Given the description of an element on the screen output the (x, y) to click on. 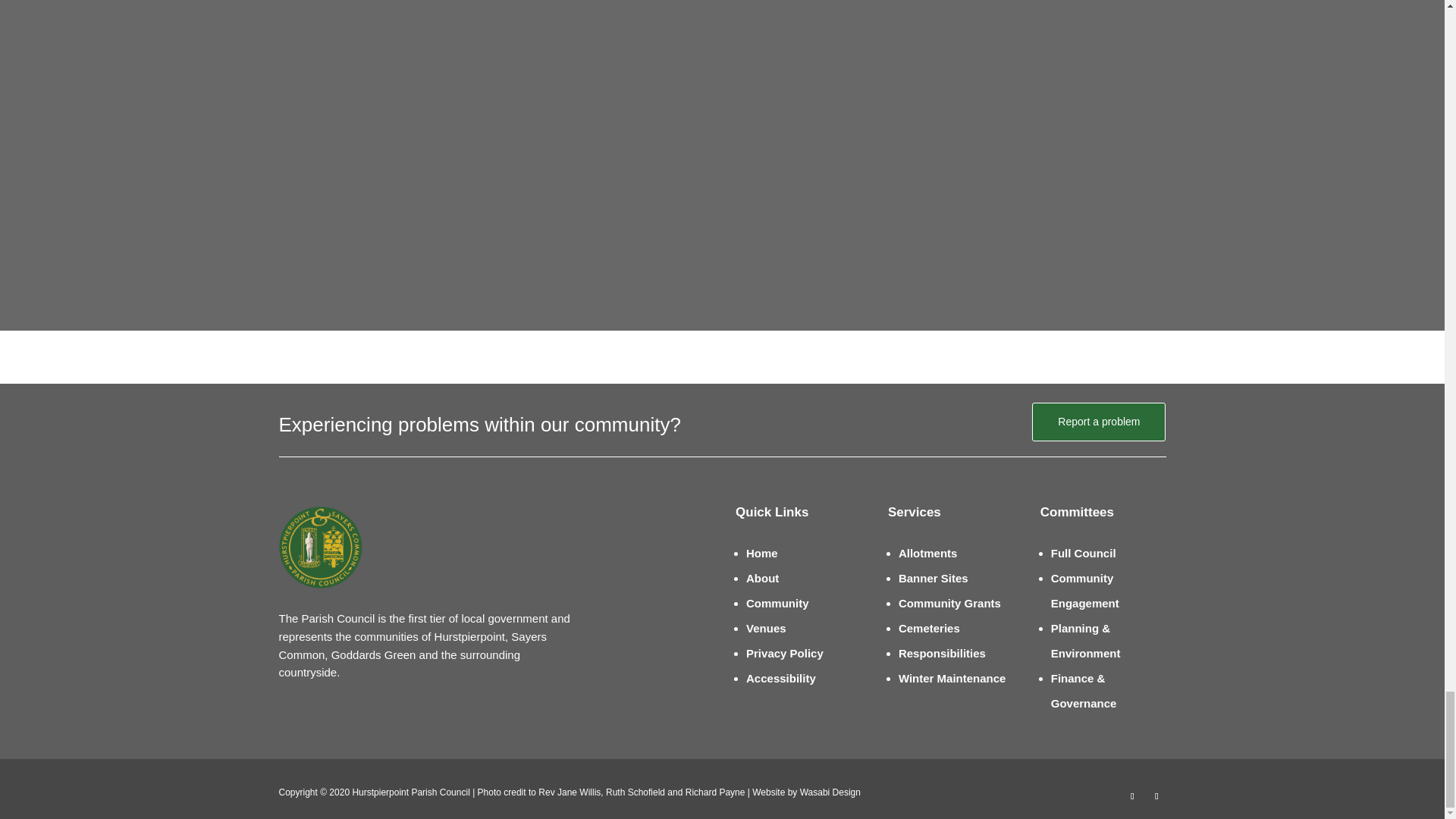
Follow on Facebook (1131, 796)
accessibility statement (780, 677)
Follow on X (1156, 796)
